Given the description of an element on the screen output the (x, y) to click on. 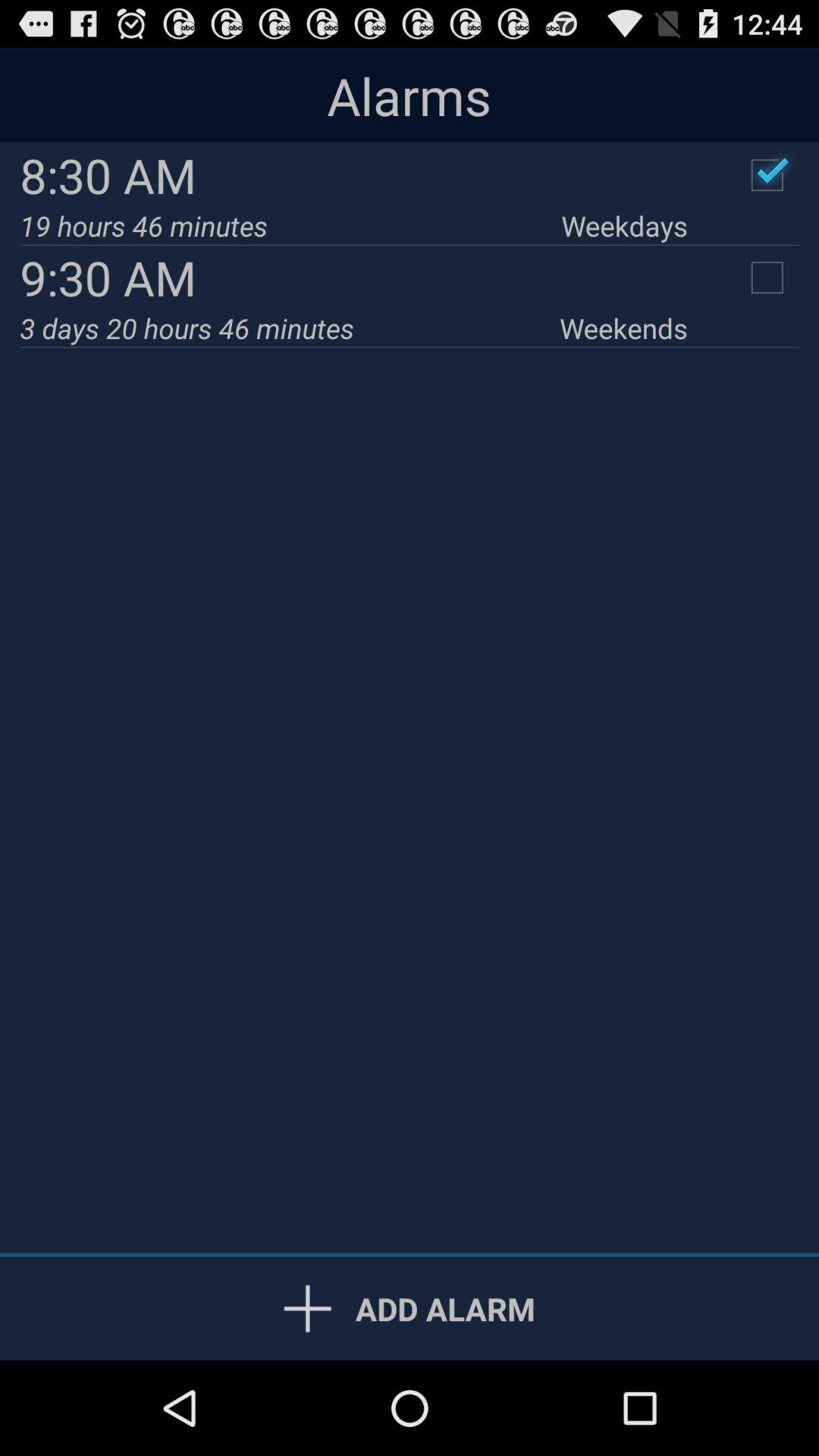
uncheck alarm (767, 175)
